Given the description of an element on the screen output the (x, y) to click on. 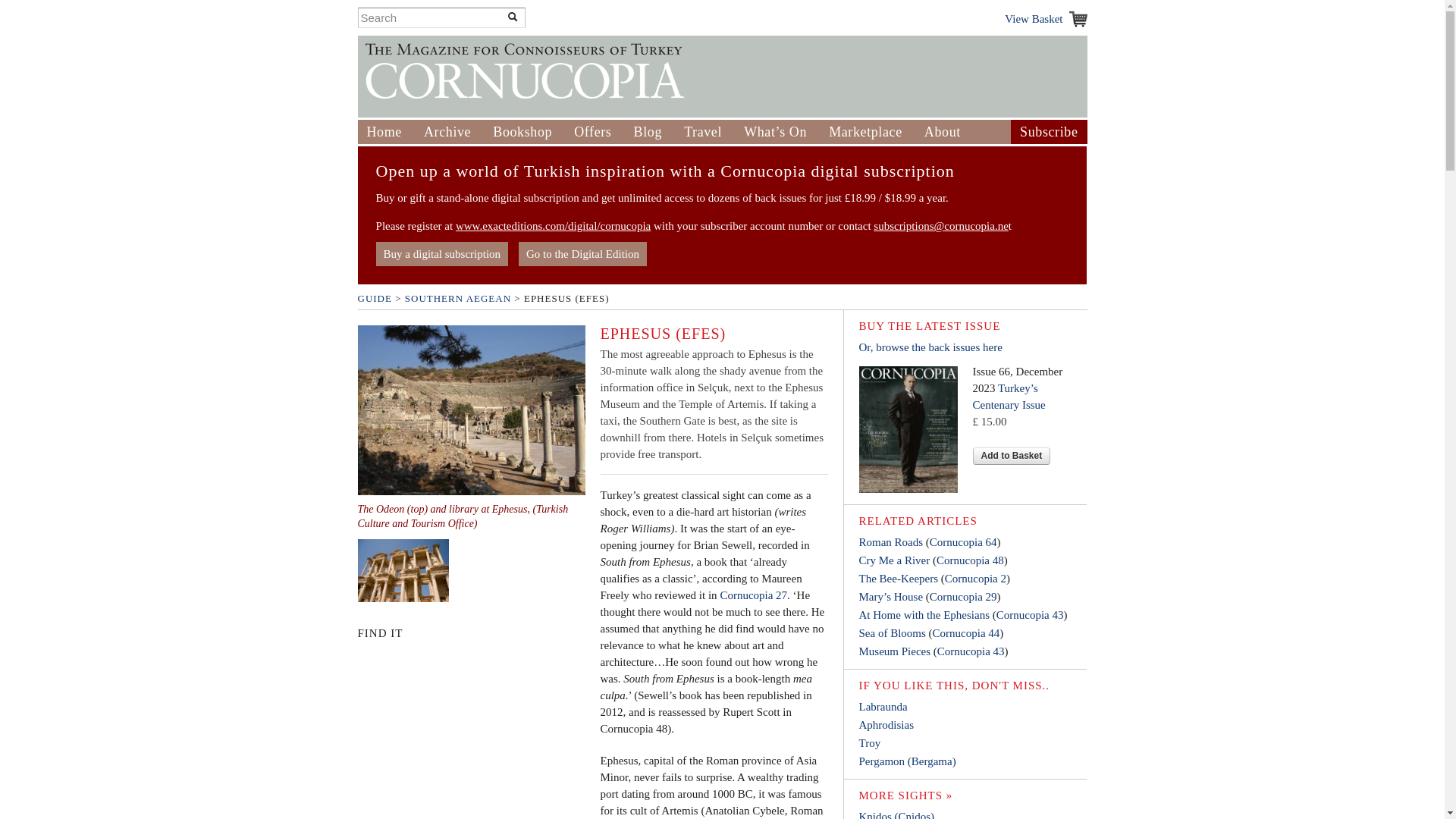
Bookshop (522, 131)
Go to the Digital Edition (582, 253)
SOUTHERN AEGEAN (457, 297)
GUIDE (374, 297)
Travel (703, 131)
Archive (446, 131)
Offers (592, 131)
Marketplace (865, 131)
View Basket (1045, 18)
Buy a digital subscription (441, 253)
